Given the description of an element on the screen output the (x, y) to click on. 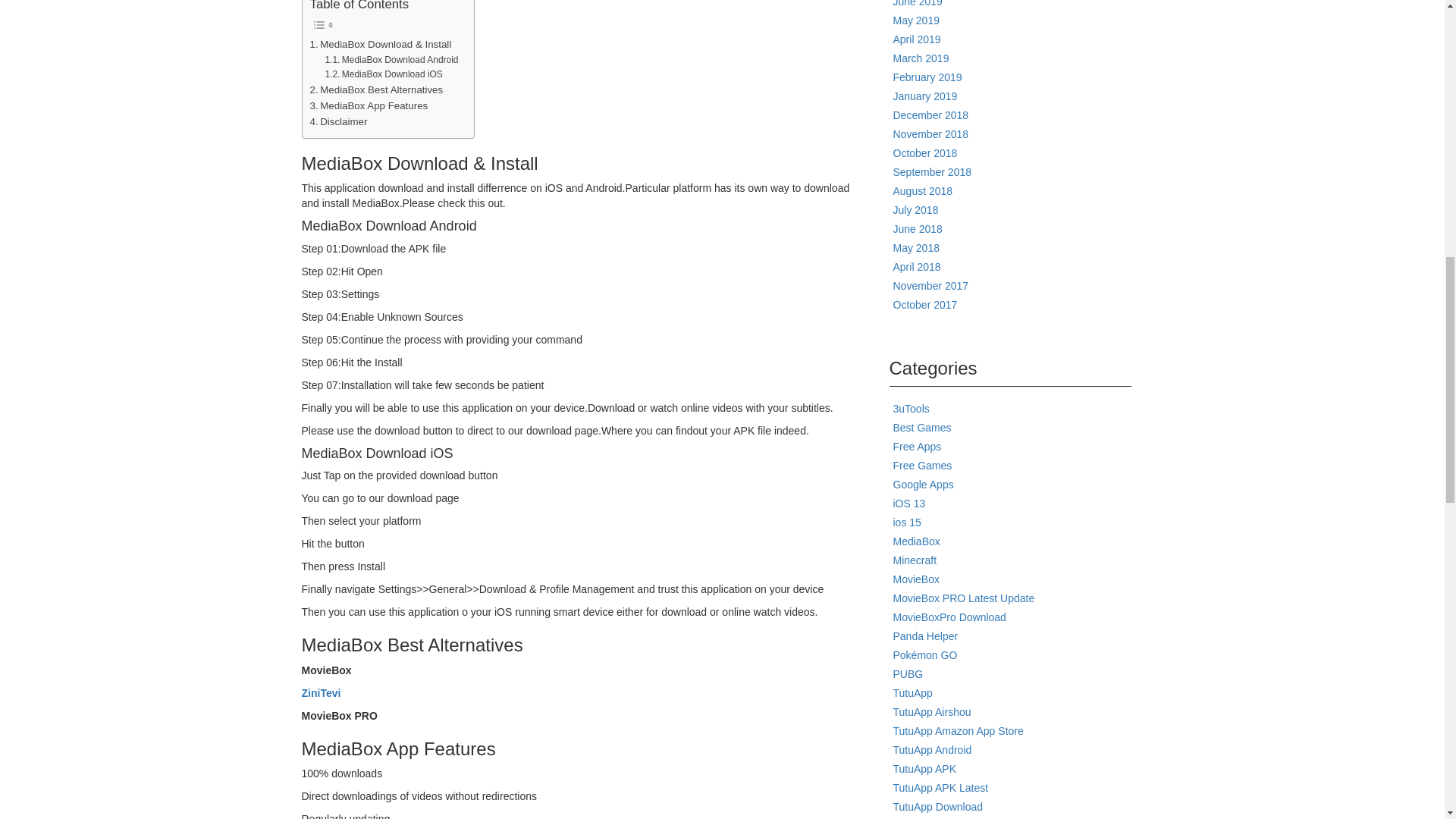
MediaBox Best Alternatives (375, 89)
MediaBox App Features (368, 105)
MediaBox Download Android  (391, 60)
MediaBox Download iOS (383, 74)
Disclaimer (337, 121)
ZiniTevi (320, 693)
MediaBox Download Android (391, 60)
MediaBox Download iOS (383, 74)
